Given the description of an element on the screen output the (x, y) to click on. 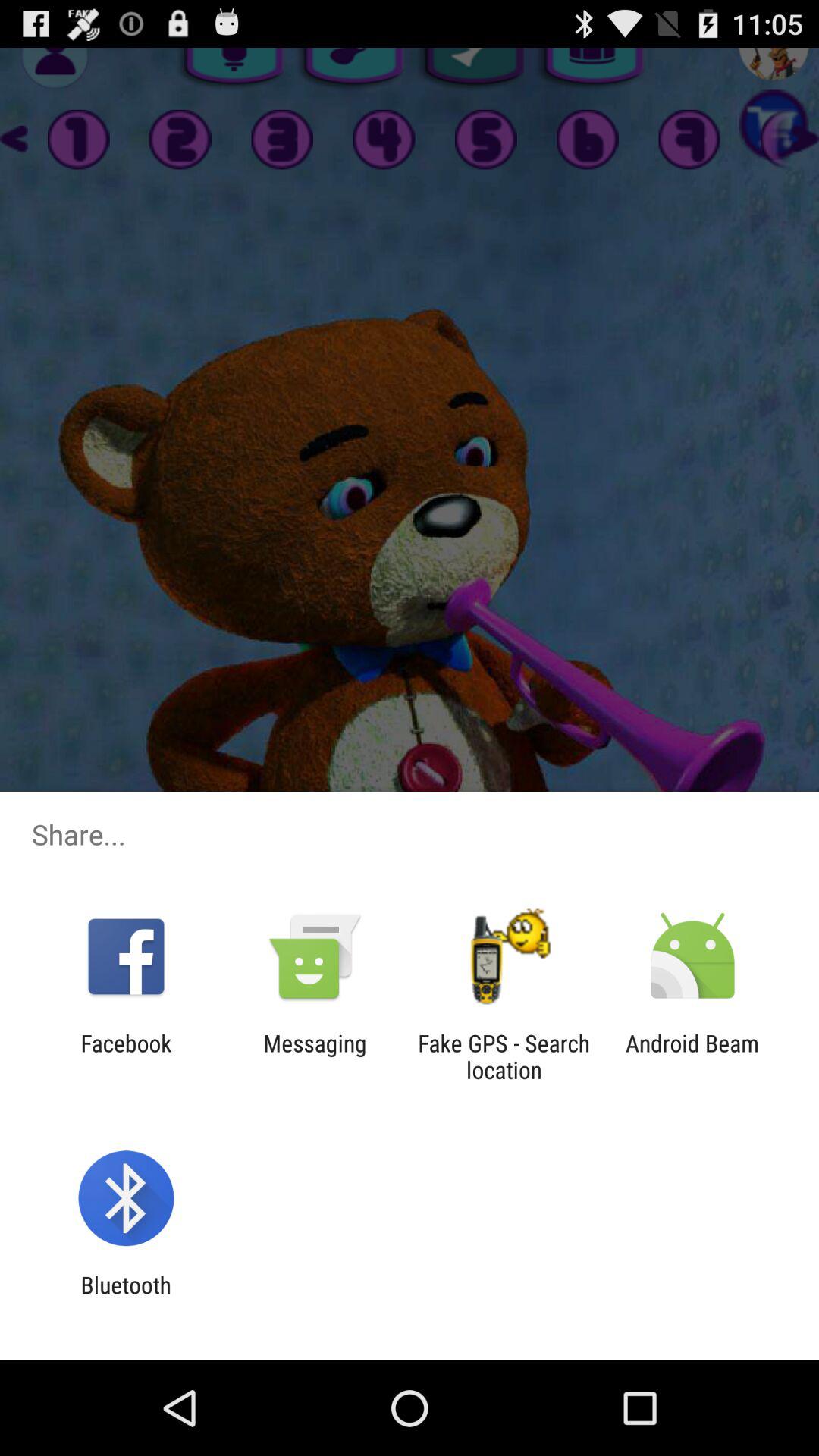
tap app next to android beam app (503, 1056)
